Given the description of an element on the screen output the (x, y) to click on. 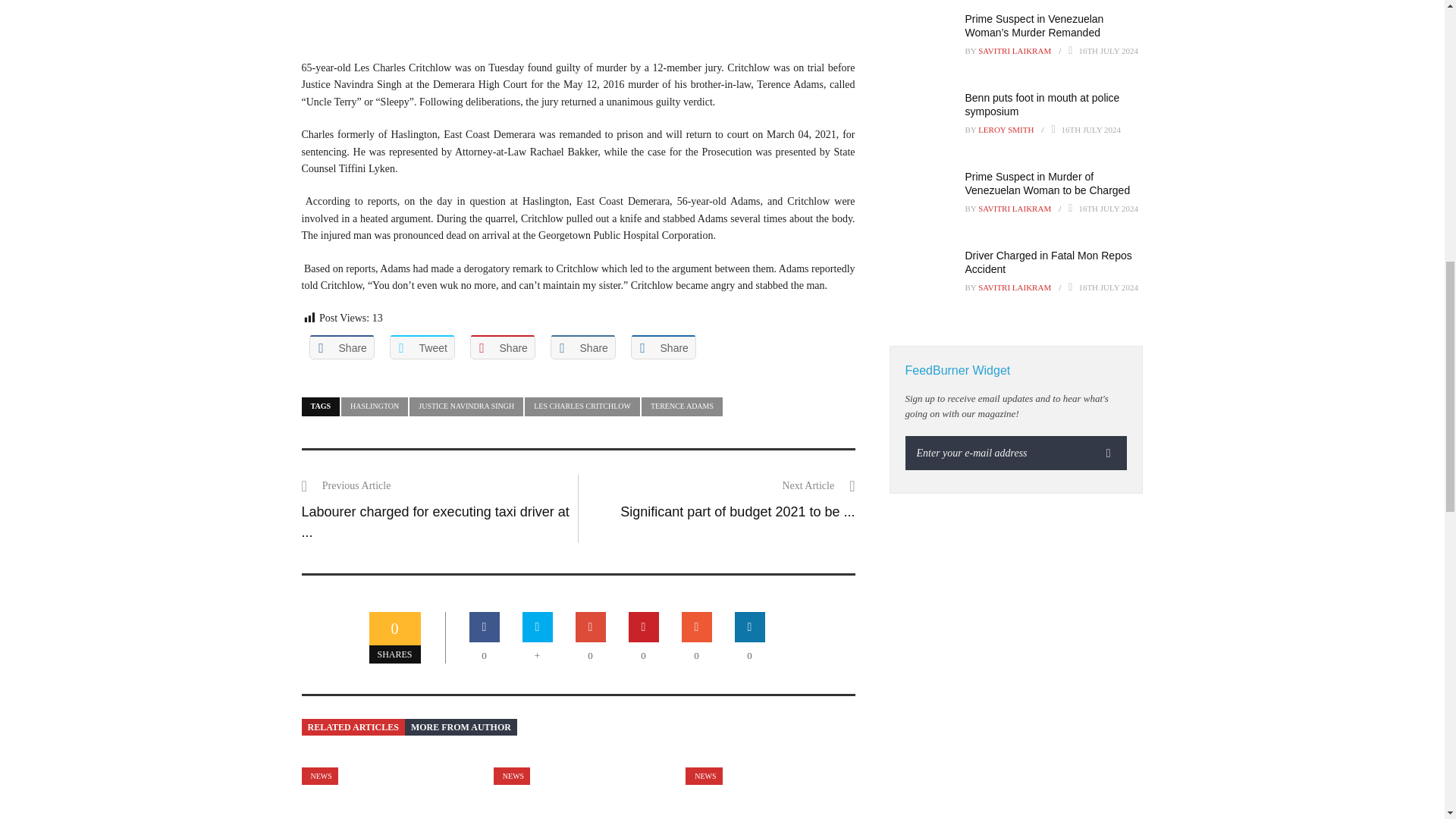
Share on Pinterest (502, 347)
Share on Digg (662, 347)
Enter your e-mail address (997, 452)
View all posts tagged Haslington (373, 406)
View all posts tagged Justice Navindra Singh (465, 406)
Share on Twitter (422, 347)
Share on Facebook (341, 347)
View all posts tagged Les Charles Critchlow (582, 406)
Share on LinkedIn (582, 347)
View all posts tagged Terence Adams (682, 406)
